Given the description of an element on the screen output the (x, y) to click on. 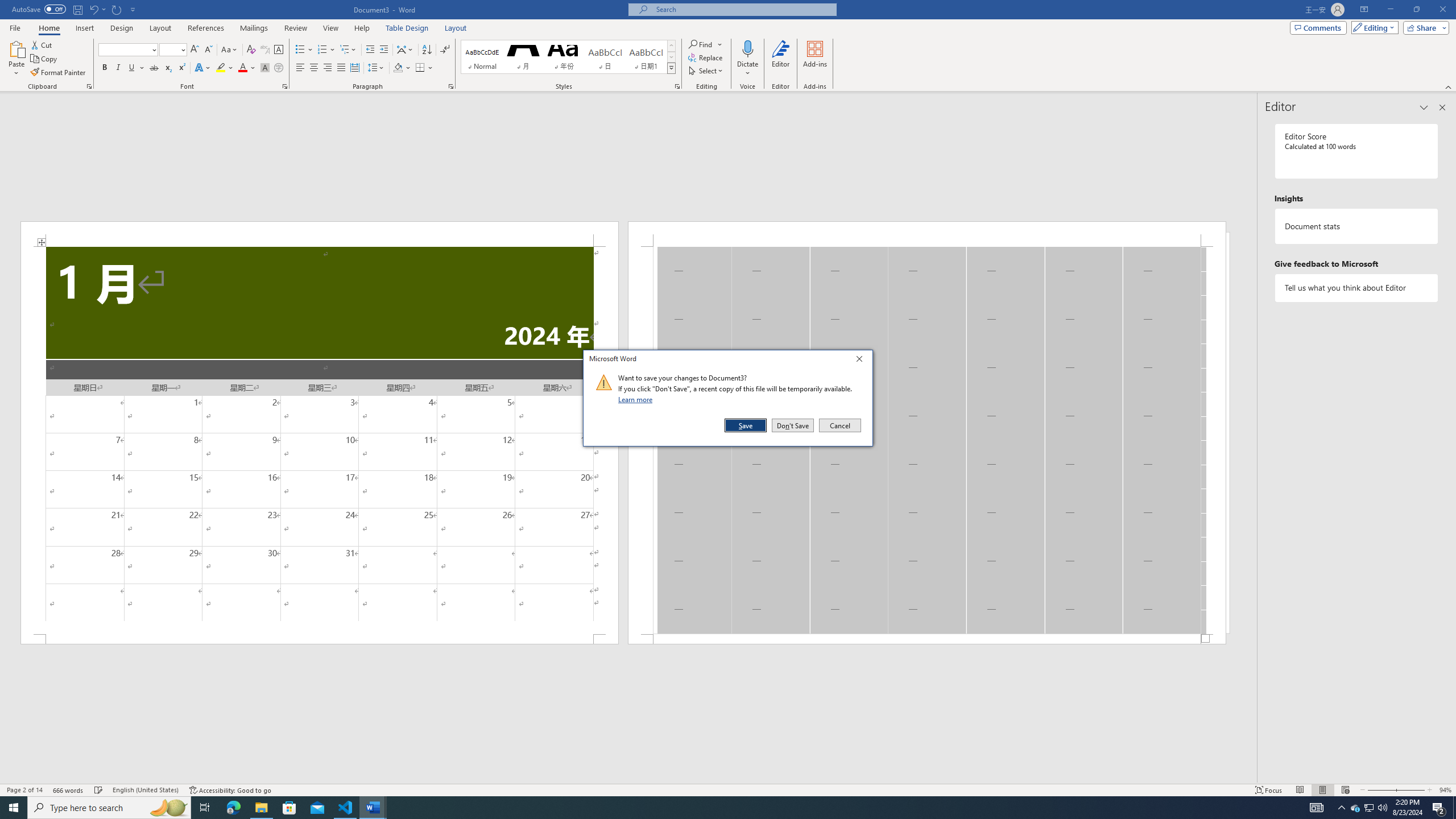
Repeat Copy (117, 9)
